Given the description of an element on the screen output the (x, y) to click on. 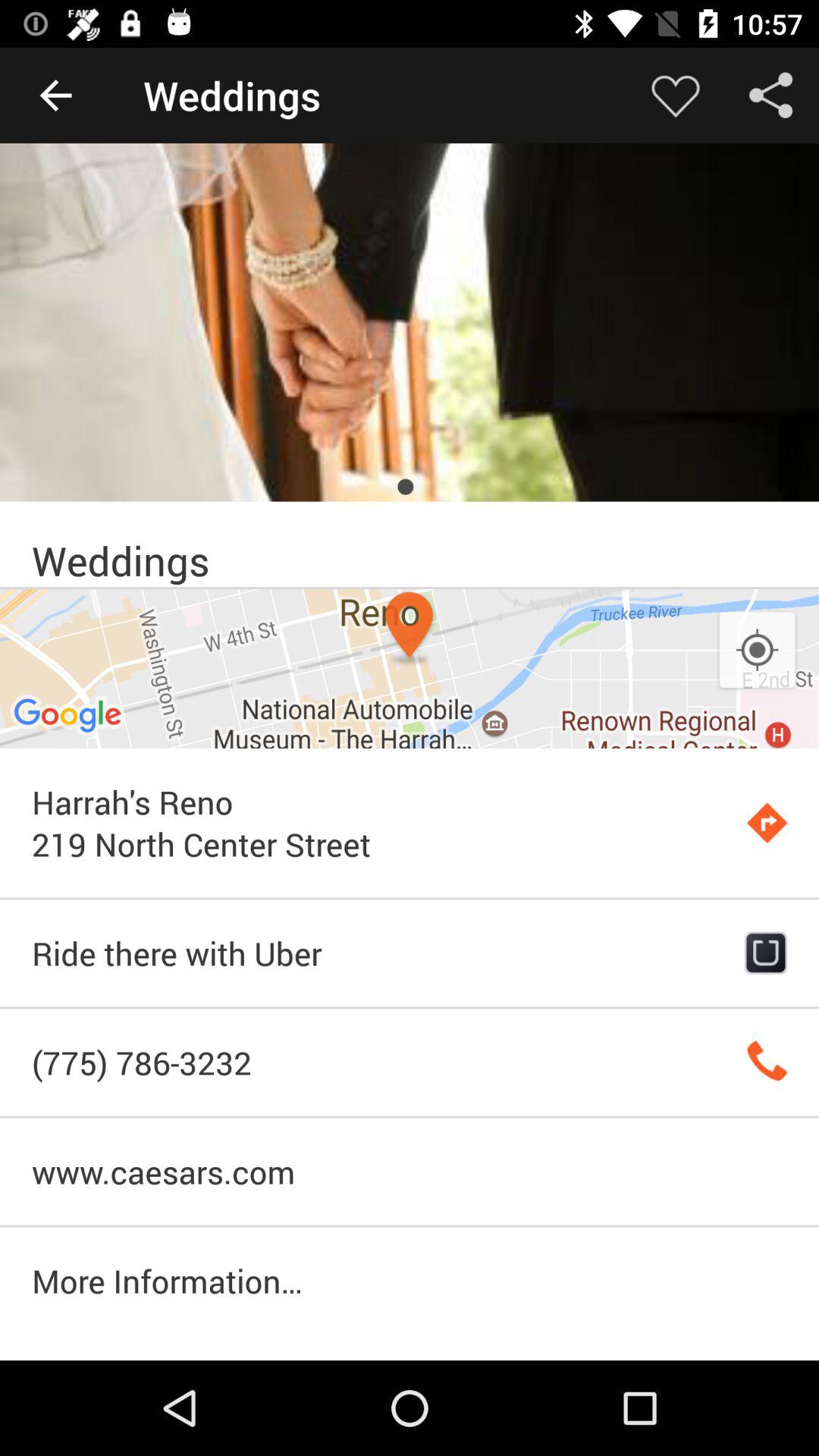
select www.caesars.com (409, 1171)
